Given the description of an element on the screen output the (x, y) to click on. 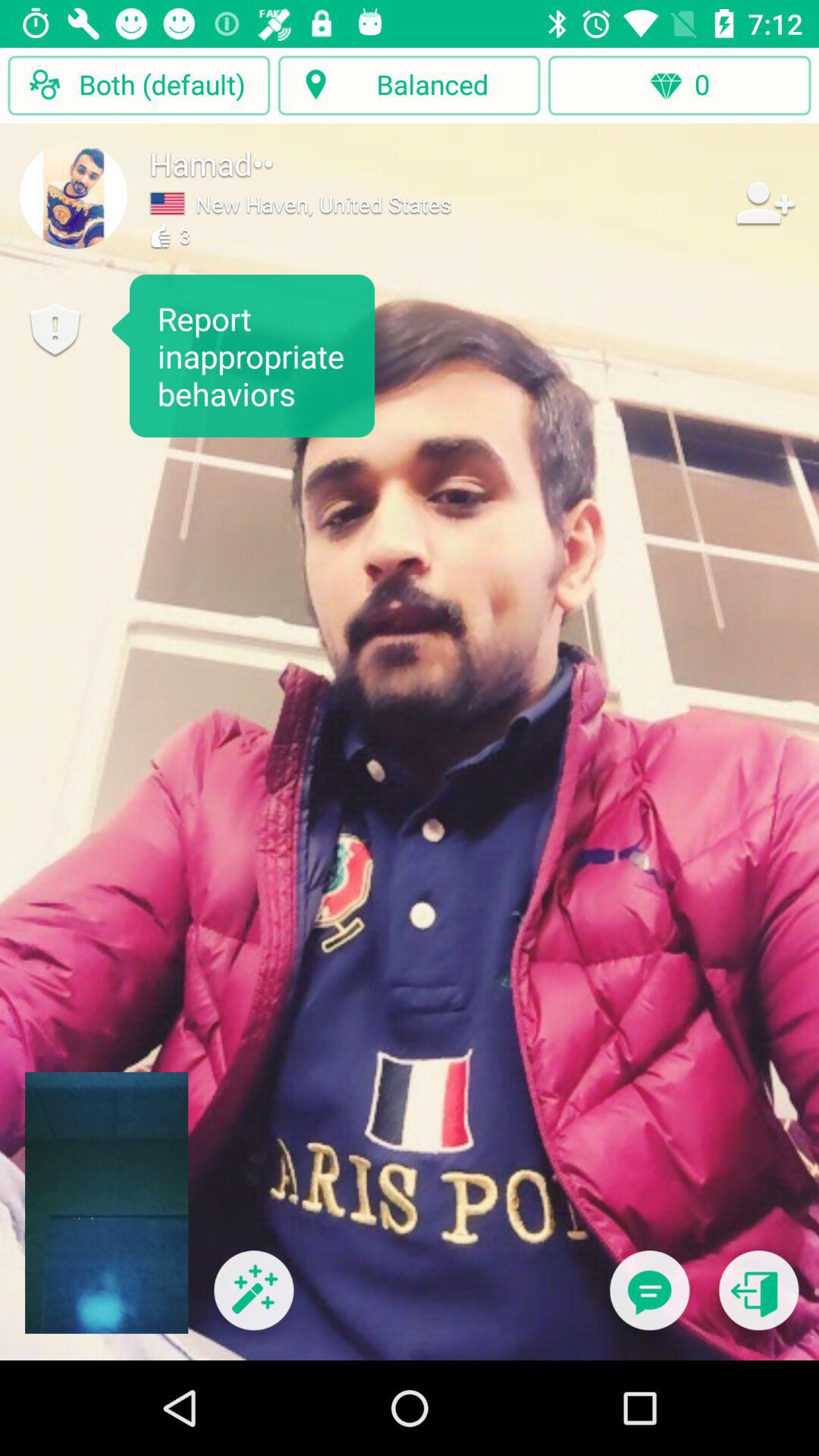
profile picture (73, 195)
